Given the description of an element on the screen output the (x, y) to click on. 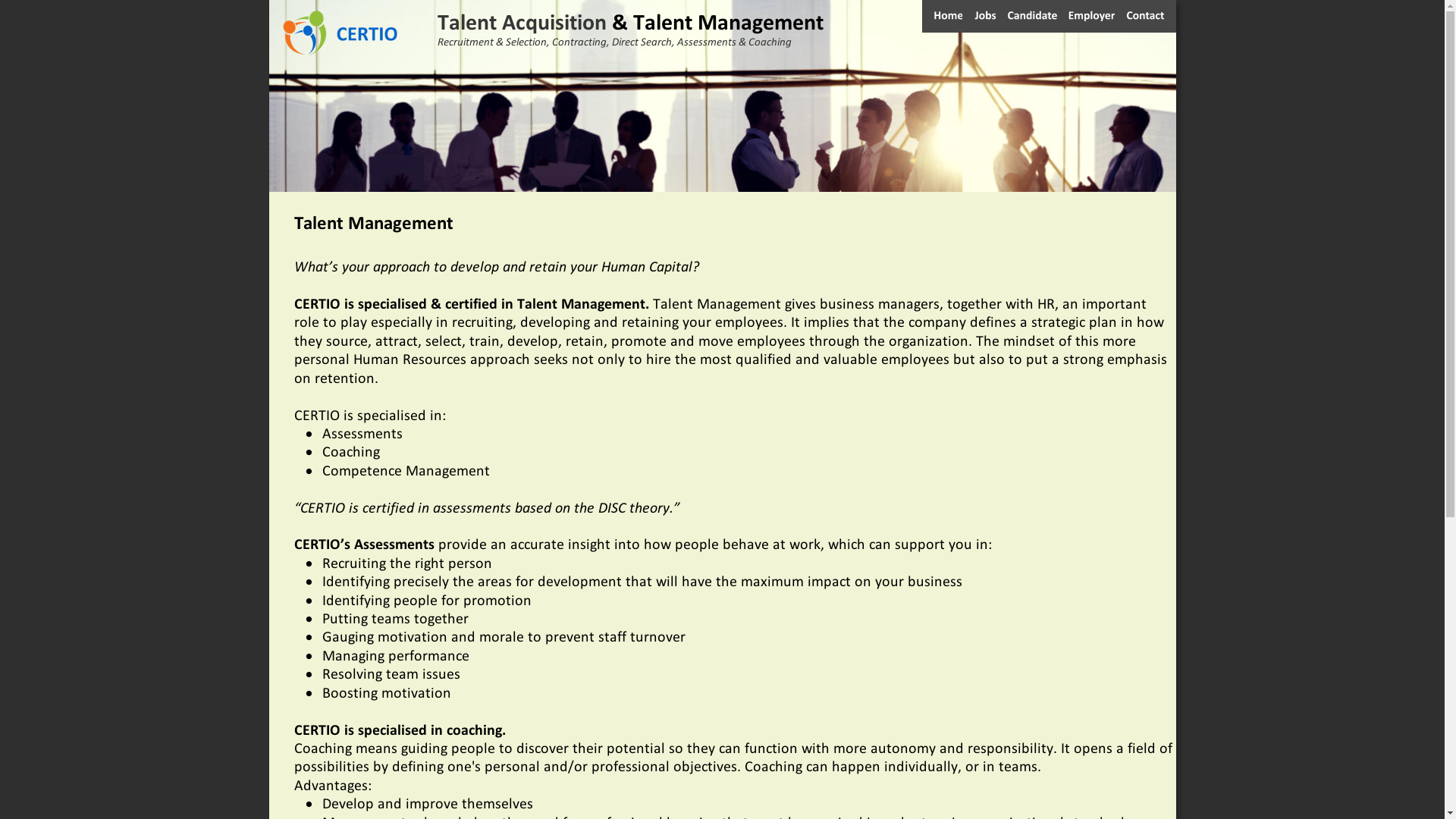
Talent Acquisition  Element type: text (523, 15)
